Given the description of an element on the screen output the (x, y) to click on. 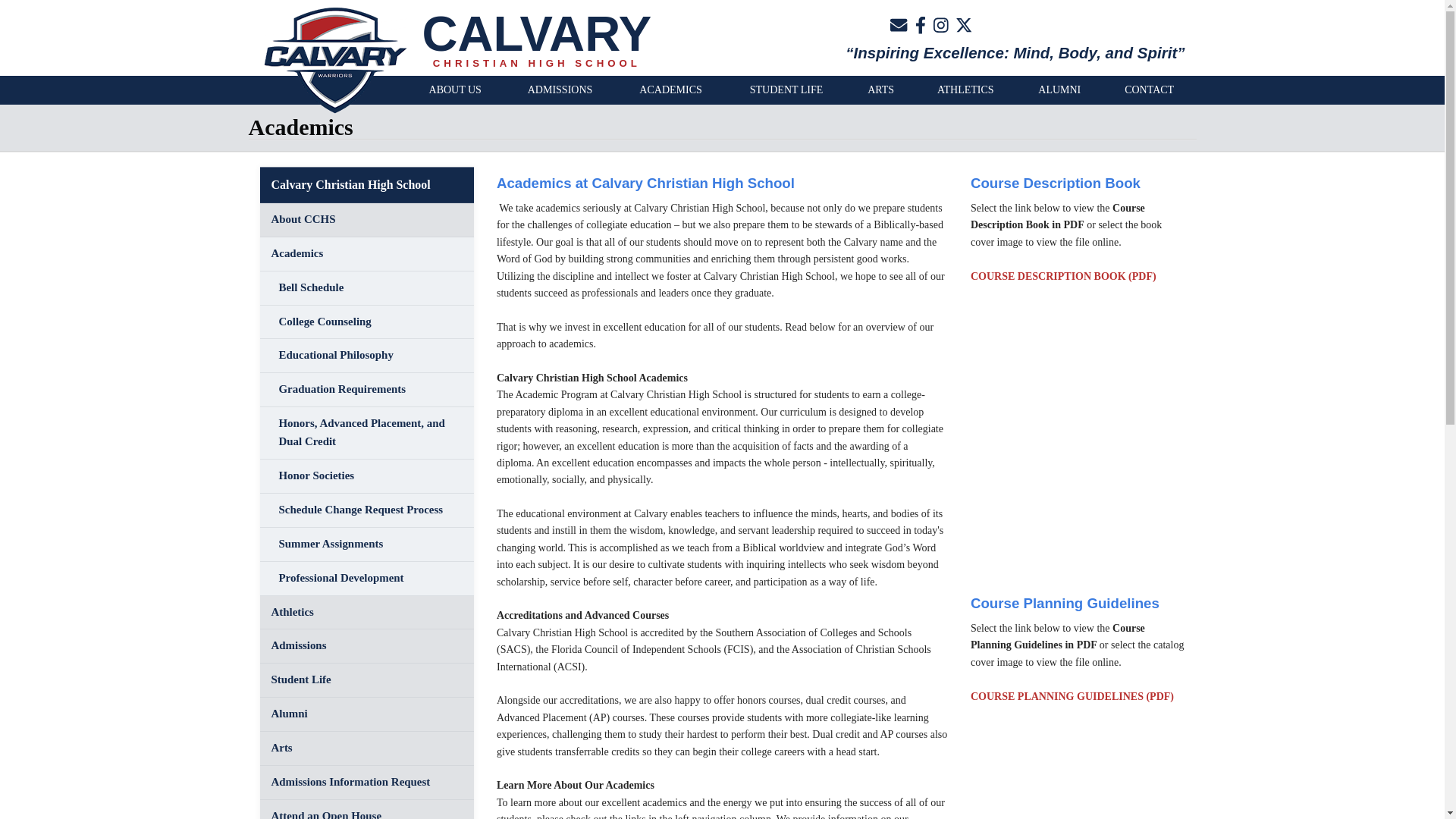
ARTS (880, 90)
Arts (366, 748)
ACADEMICS (670, 90)
Student Life (366, 680)
Athletics (366, 612)
Graduation Requirements (366, 390)
Educational Philosophy (366, 356)
About CCHS (366, 220)
CALVARY (536, 33)
College Counseling (366, 322)
Schedule Change Request Process (366, 510)
ABOUT US (454, 90)
Alumni (366, 714)
Bell Schedule (366, 288)
Professional Development (366, 578)
